Given the description of an element on the screen output the (x, y) to click on. 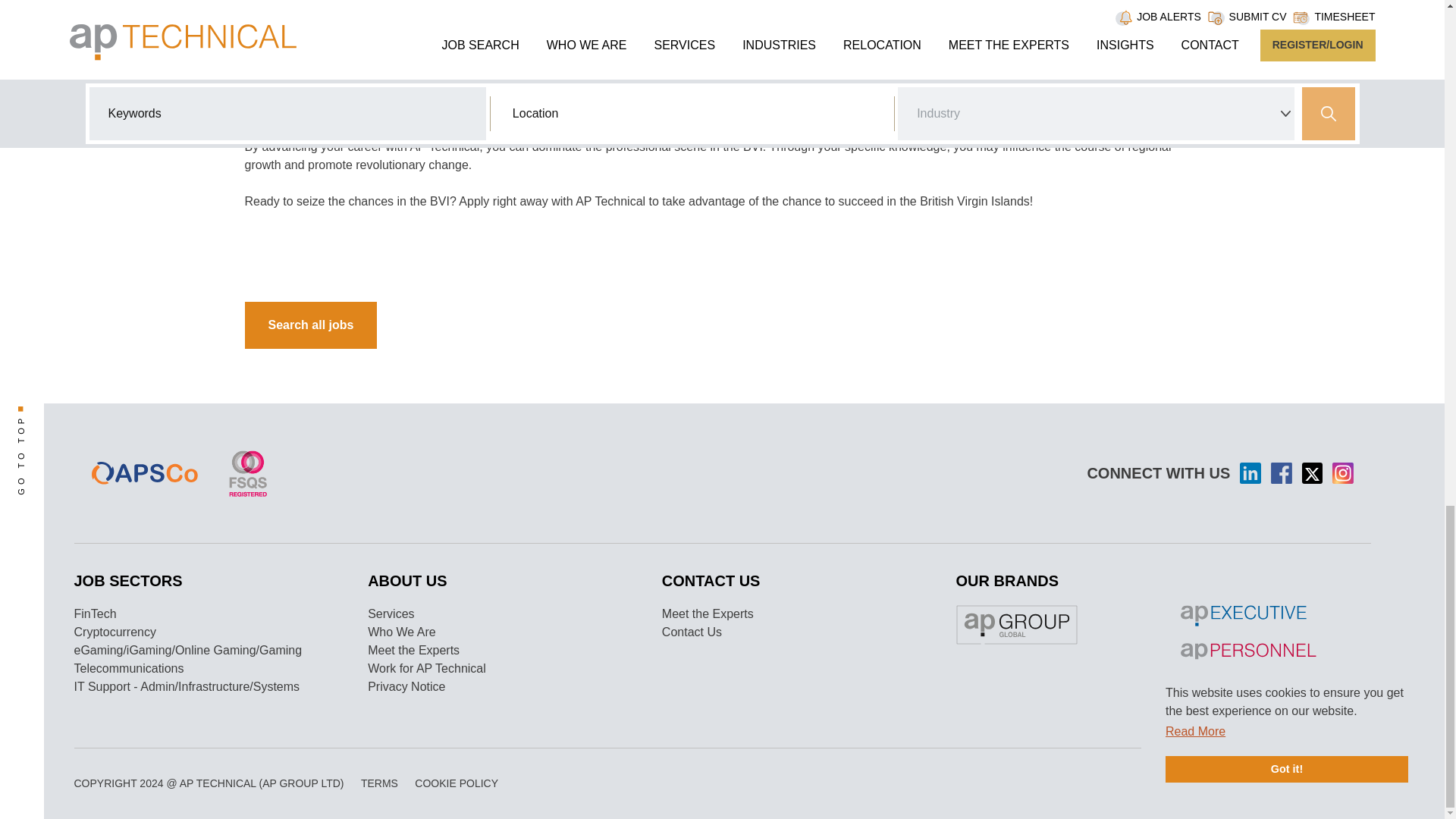
GO TO TOP (54, 415)
